Given the description of an element on the screen output the (x, y) to click on. 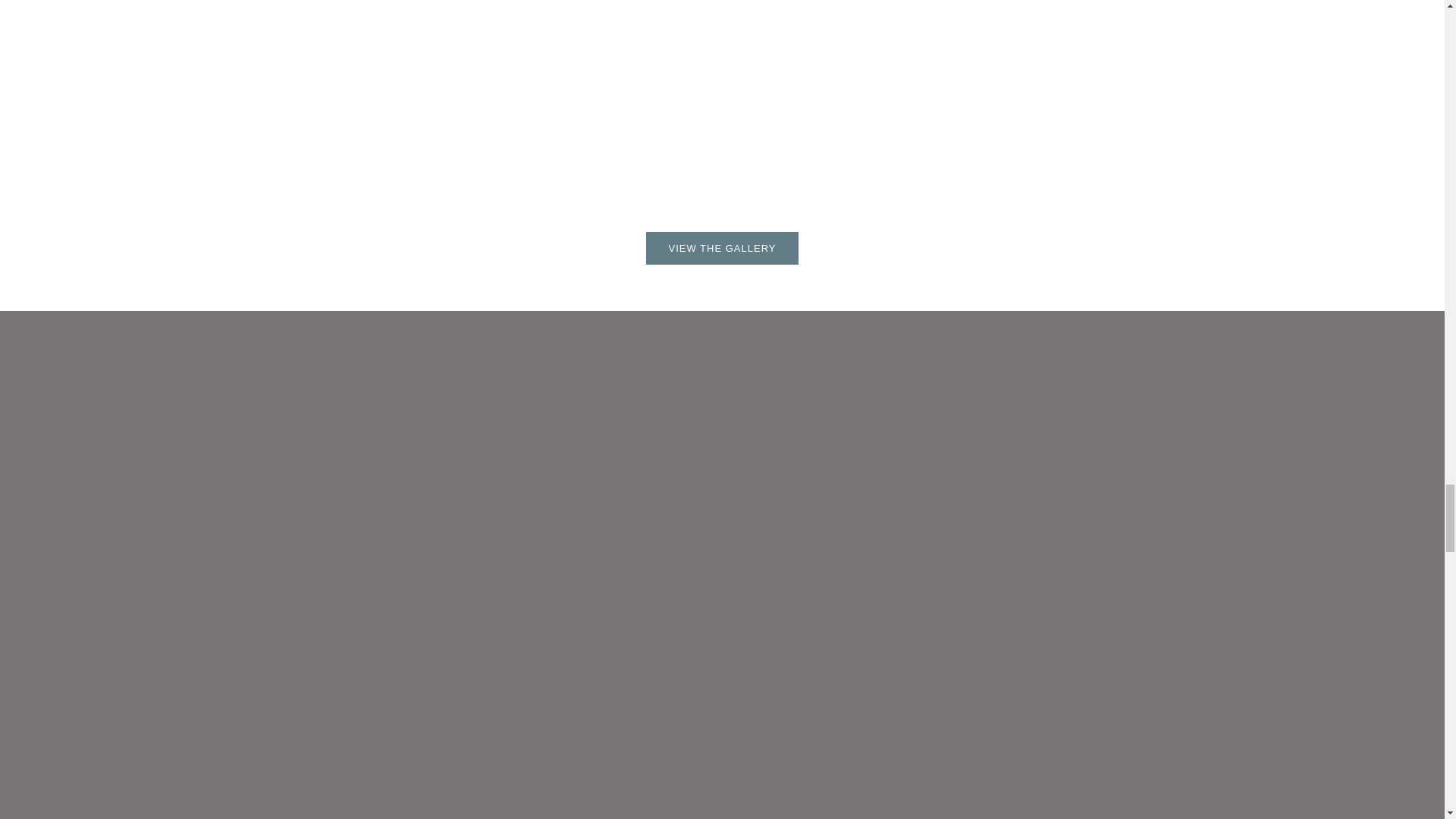
VIEW THE GALLERY (722, 247)
VIEW THE GALLERY (721, 247)
